Given the description of an element on the screen output the (x, y) to click on. 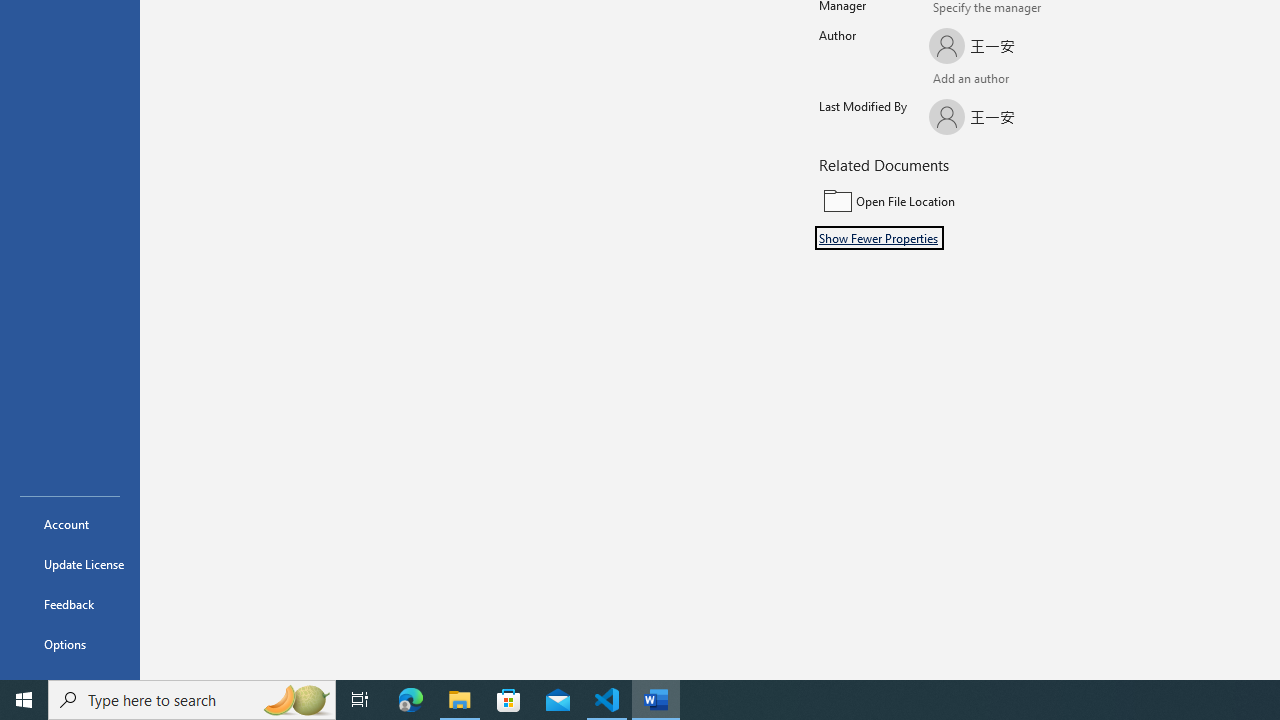
Feedback (69, 603)
Show Fewer Properties (879, 237)
Open File Location (953, 201)
Browse Address Book (1047, 80)
Add an author (949, 80)
Account (69, 523)
Verify Names (983, 80)
Update License (69, 563)
Options (69, 643)
